Given the description of an element on the screen output the (x, y) to click on. 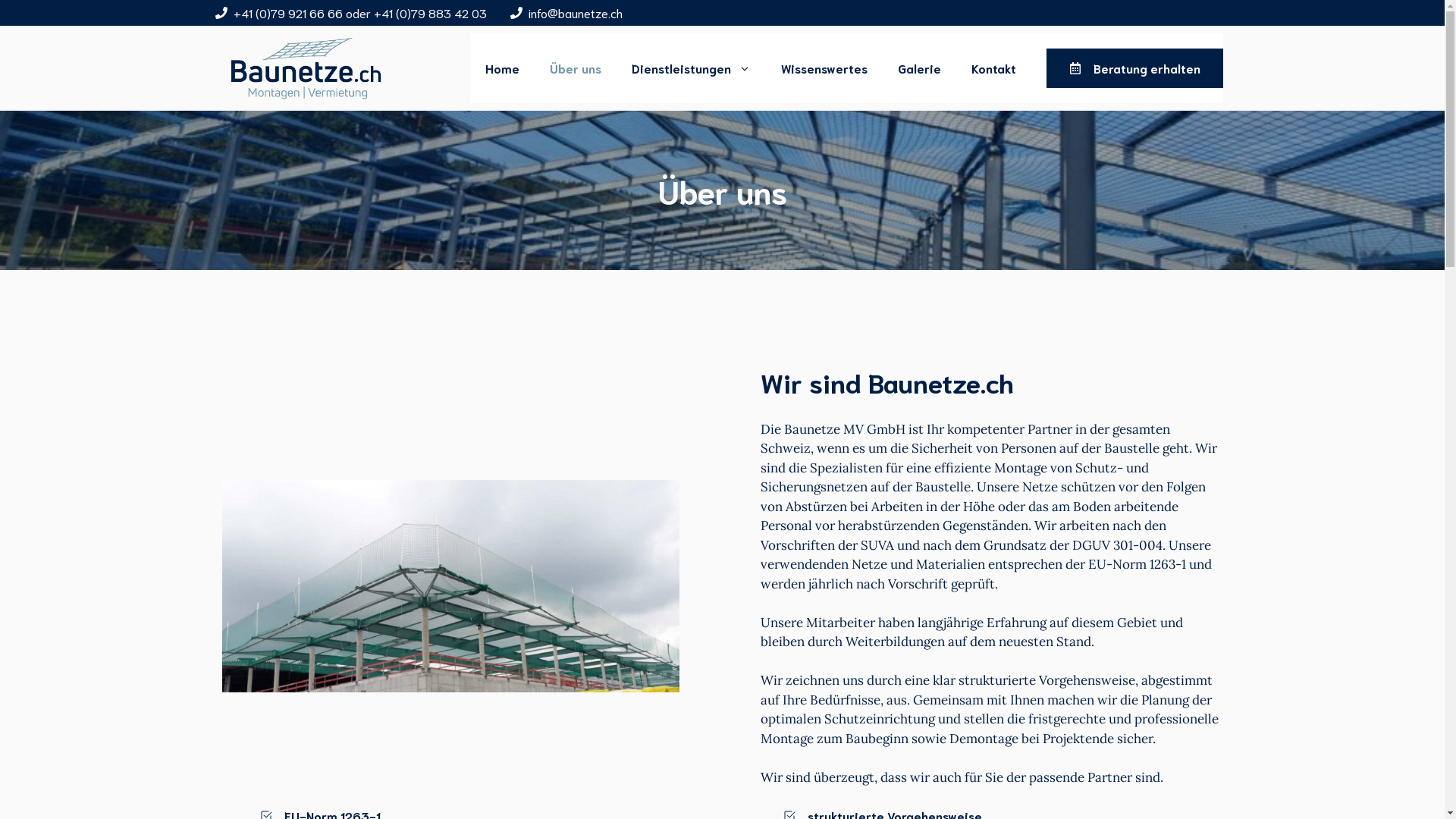
Home Element type: text (502, 68)
+41 (0)79 883 42 03 Element type: text (429, 12)
+41 (0)79 921 66 66 Element type: text (289, 12)
Kontakt Element type: text (992, 68)
Beratung erhalten Element type: text (1134, 67)
Dienstleistungen Element type: text (690, 68)
Wissenswertes Element type: text (823, 68)
Galerie Element type: text (919, 68)
info@baunetze.ch Element type: text (574, 12)
